Given the description of an element on the screen output the (x, y) to click on. 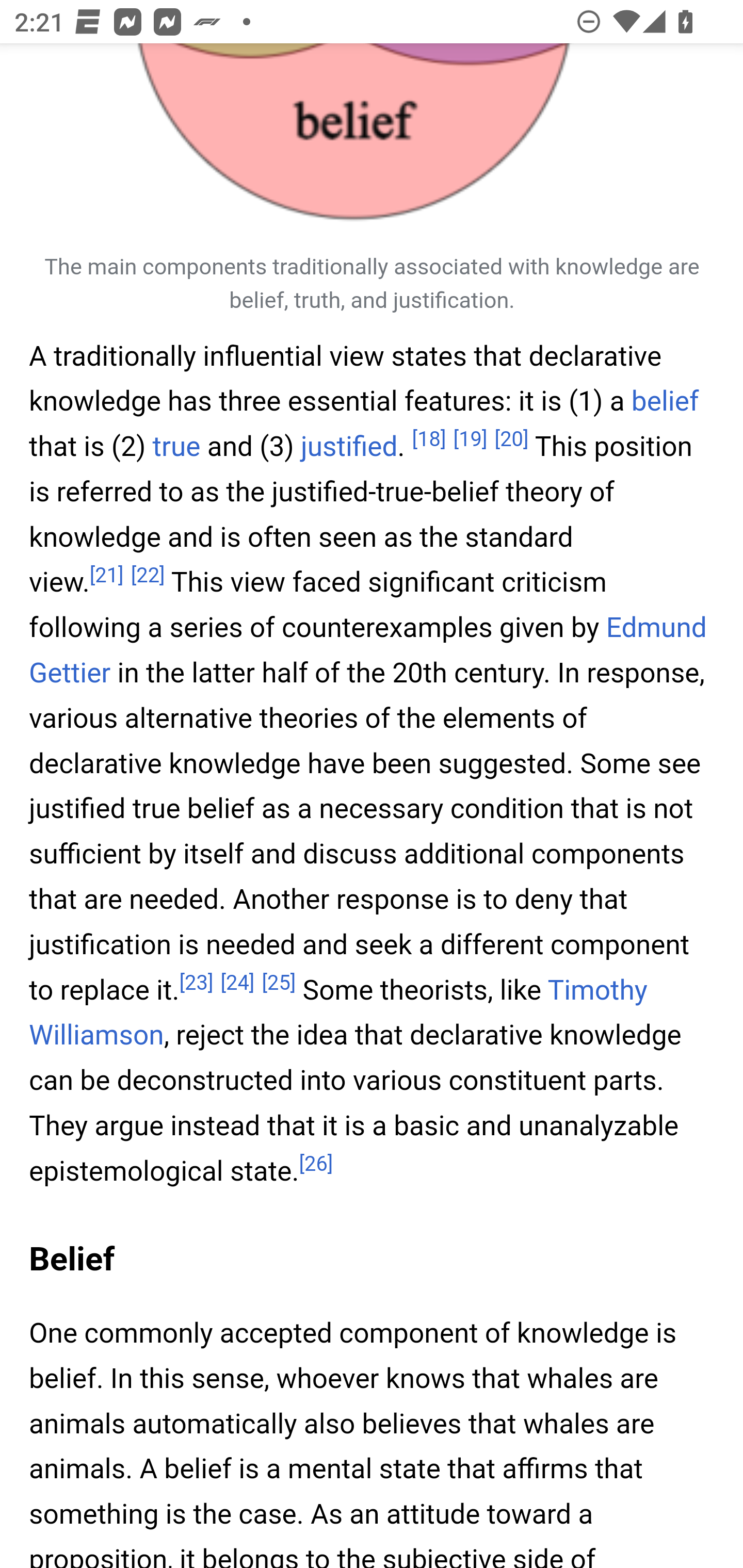
Venn diagram of justified true belief (372, 139)
belief (665, 401)
[] [ 18 ] (429, 440)
[] [ 19 ] (469, 440)
[] [ 20 ] (510, 440)
true (176, 448)
justified (348, 448)
[] [ 21 ] (106, 575)
[] [ 22 ] (148, 575)
Edmund Gettier (368, 651)
[] [ 23 ] (196, 983)
[] [ 24 ] (238, 983)
[] [ 25 ] (278, 983)
Timothy Williamson (337, 1014)
[] [ 26 ] (315, 1164)
